Given the description of an element on the screen output the (x, y) to click on. 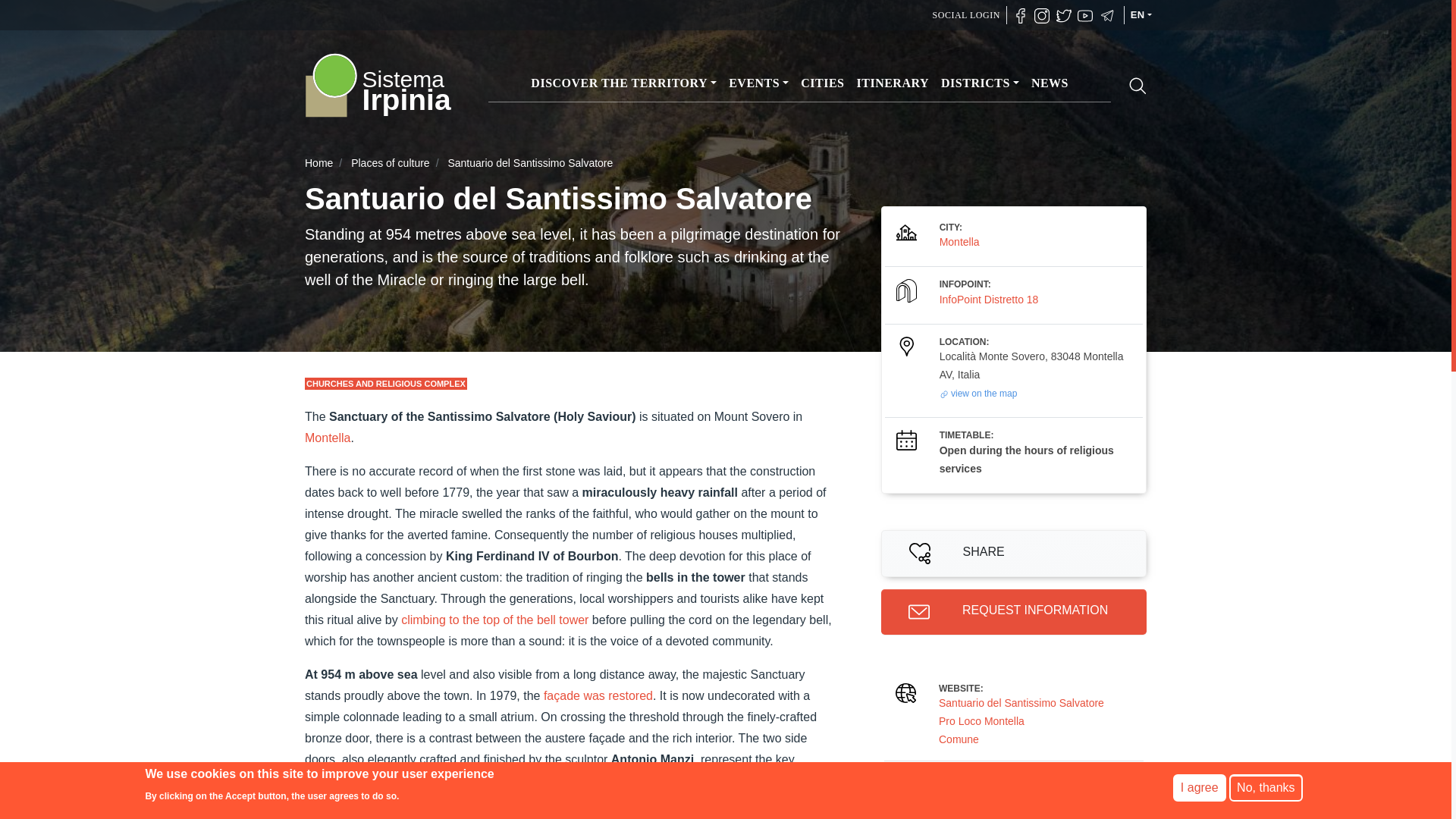
view on the map (978, 393)
Skip to main content (725, 1)
EN (1140, 15)
InfoPoint Distretto 18 (989, 299)
climbing to the top of the bell tower (494, 619)
CITIES (822, 84)
Home (377, 85)
DISTRICTS (979, 84)
Montella (327, 437)
SOCIAL LOGIN (966, 15)
ITINERARY (893, 84)
DISCOVER THE TERRITORY (623, 84)
Skip to main content (725, 1)
Places of culture (389, 162)
Montella (959, 241)
